Given the description of an element on the screen output the (x, y) to click on. 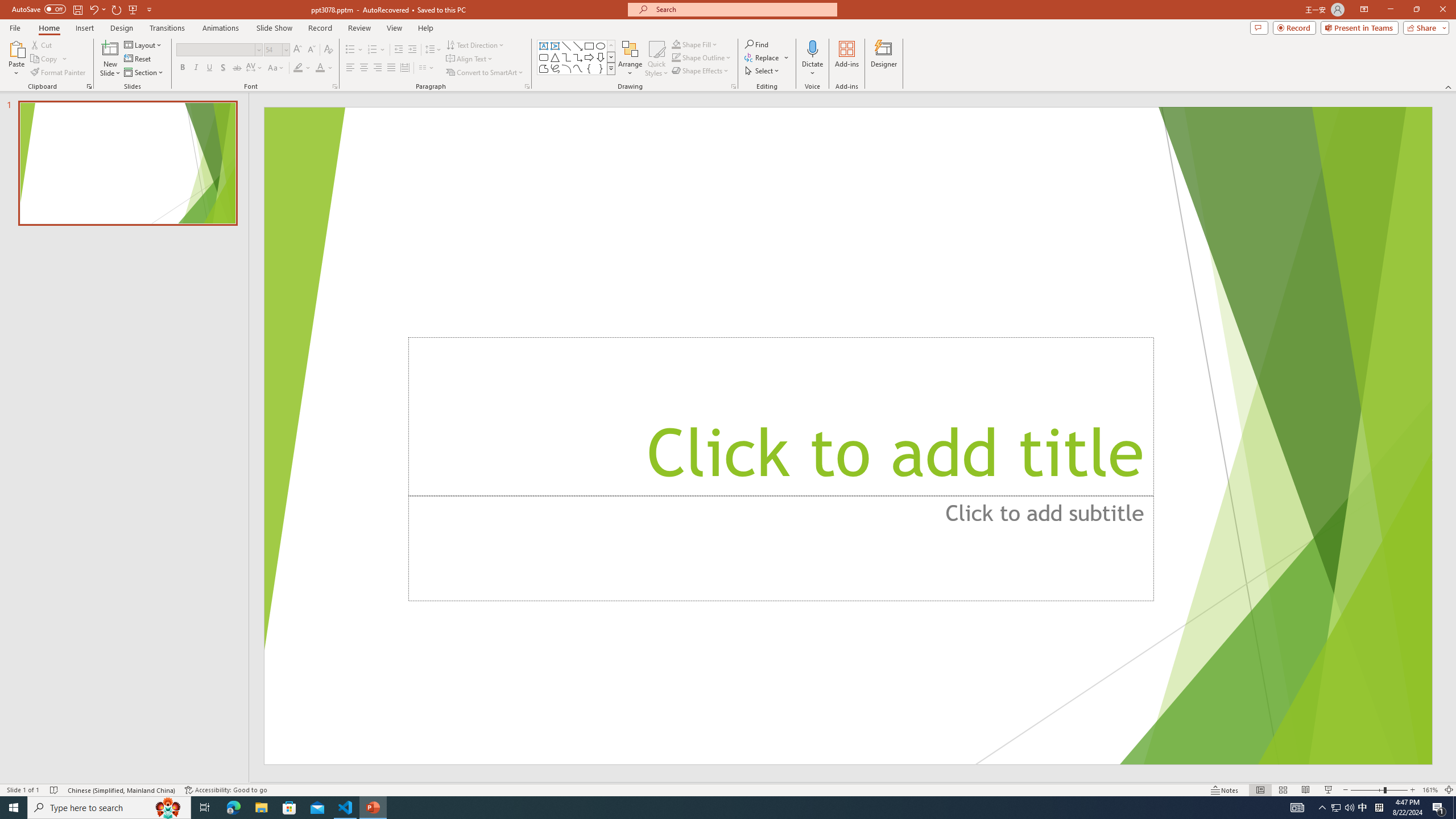
Notes  (1225, 790)
Text Highlight Color (302, 67)
Shape Outline Green, Accent 1 (675, 56)
Shapes (611, 68)
Office Clipboard... (88, 85)
Microsoft search (742, 9)
Shape Effects (700, 69)
Character Spacing (254, 67)
Decrease Indent (398, 49)
Freeform: Shape (543, 68)
Oval (600, 45)
Italic (195, 67)
Font Size (276, 49)
Class: NetUIImage (610, 68)
New Slide (110, 48)
